Given the description of an element on the screen output the (x, y) to click on. 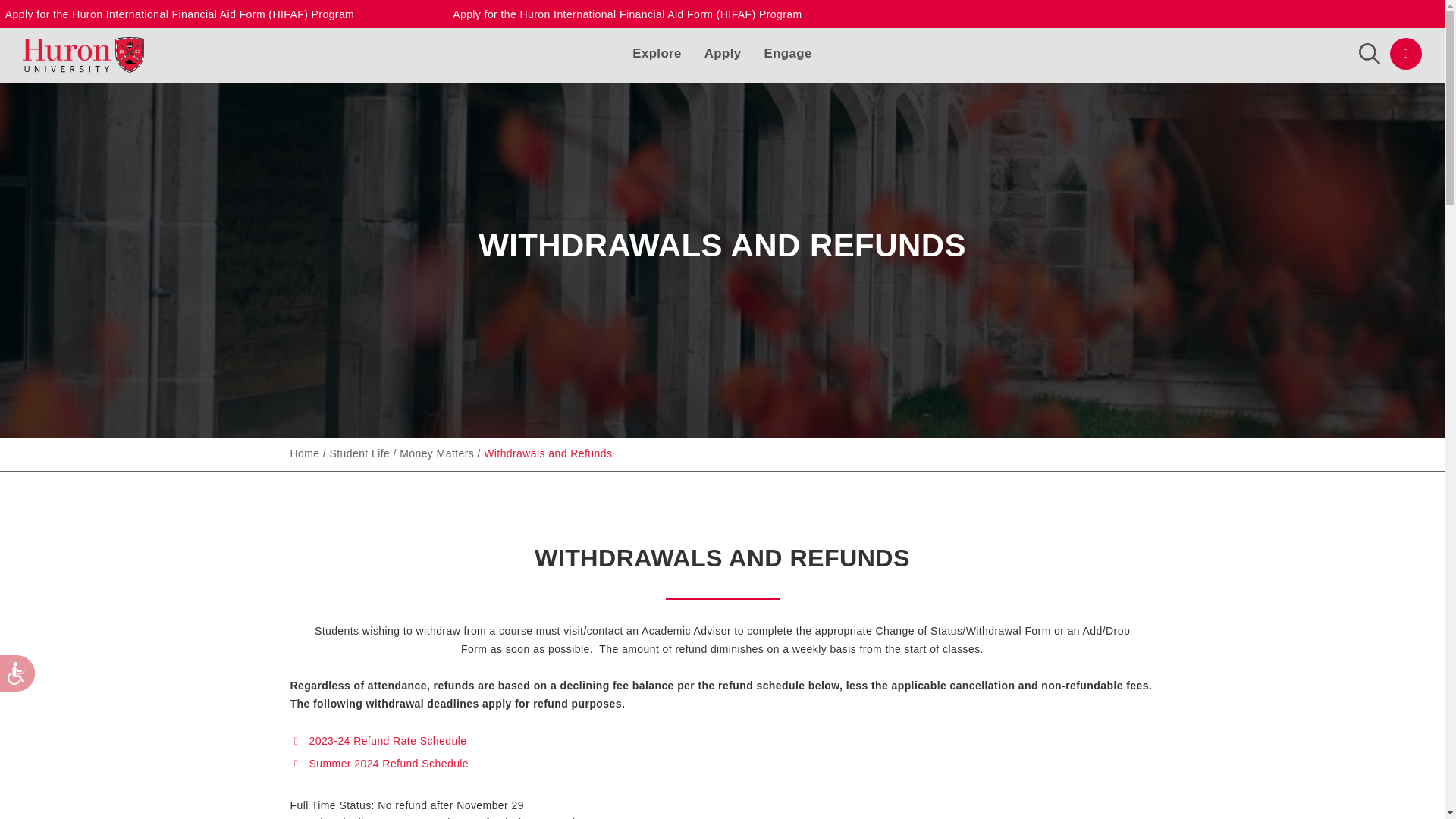
Student Life (359, 454)
Accessibility (29, 685)
Home (303, 454)
Money Matters (436, 454)
Withdrawals and Refunds (547, 454)
Summer 2024 Refund Schedule (388, 763)
Explore (656, 48)
Home Page (303, 454)
Money Matters (436, 454)
Engage (788, 48)
2023-24 Refund Rate Schedule (387, 740)
Student Life (359, 454)
